Given the description of an element on the screen output the (x, y) to click on. 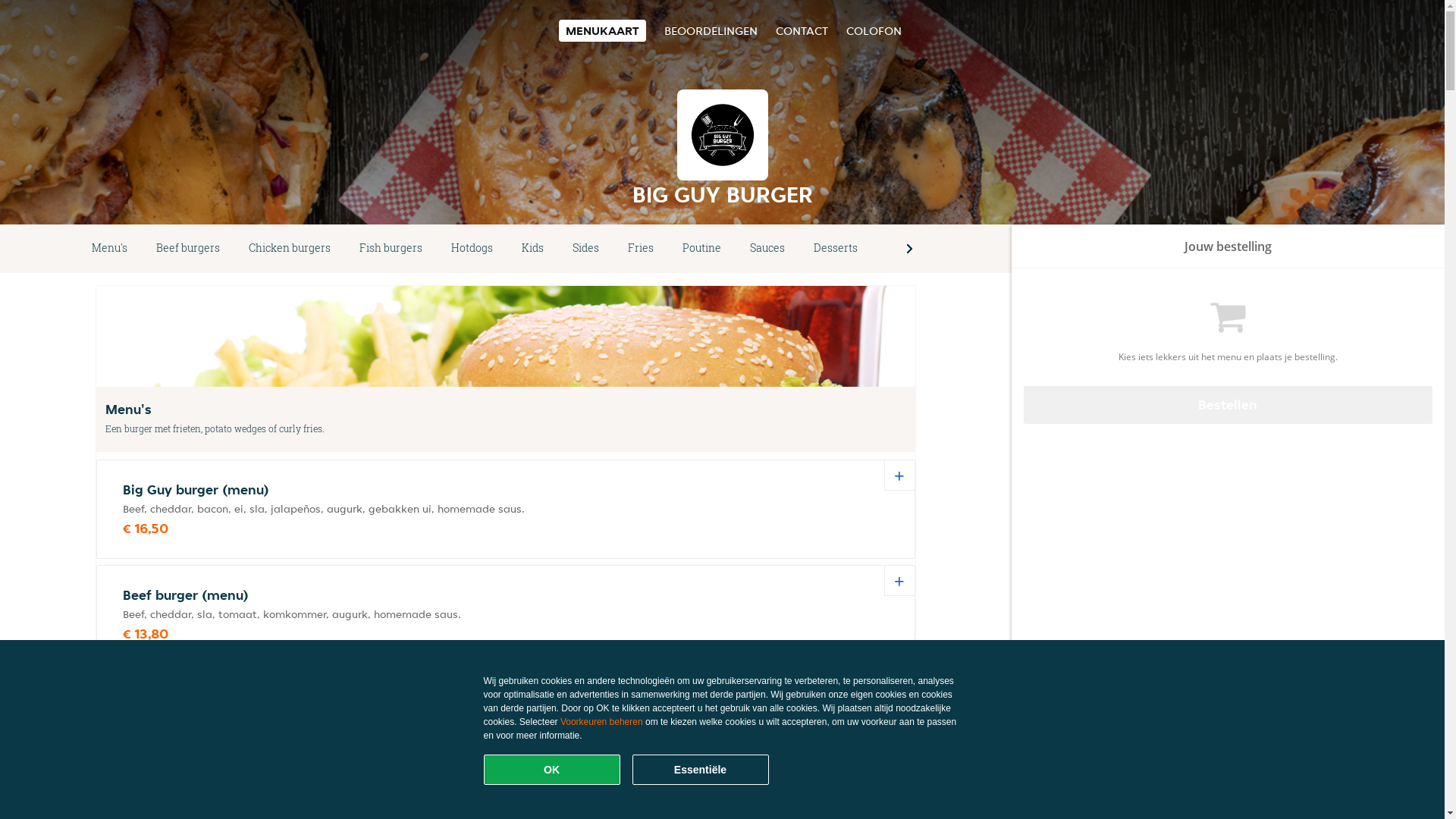
OK Element type: text (551, 769)
COLOFON Element type: text (873, 30)
Fish burgers Element type: text (390, 248)
Bestellen Element type: text (1228, 404)
Shakes Element type: text (904, 248)
Poutine Element type: text (701, 248)
Sides Element type: text (585, 248)
Voorkeuren beheren Element type: text (601, 721)
Chicken burgers Element type: text (289, 248)
Desserts Element type: text (835, 248)
Kids Element type: text (532, 248)
Fries Element type: text (640, 248)
CONTACT Element type: text (801, 30)
Beef burgers Element type: text (187, 248)
Menu's Element type: text (109, 248)
Hotdogs Element type: text (471, 248)
BEOORDELINGEN Element type: text (710, 30)
MENUKAART Element type: text (601, 30)
Sauces Element type: text (767, 248)
